Given the description of an element on the screen output the (x, y) to click on. 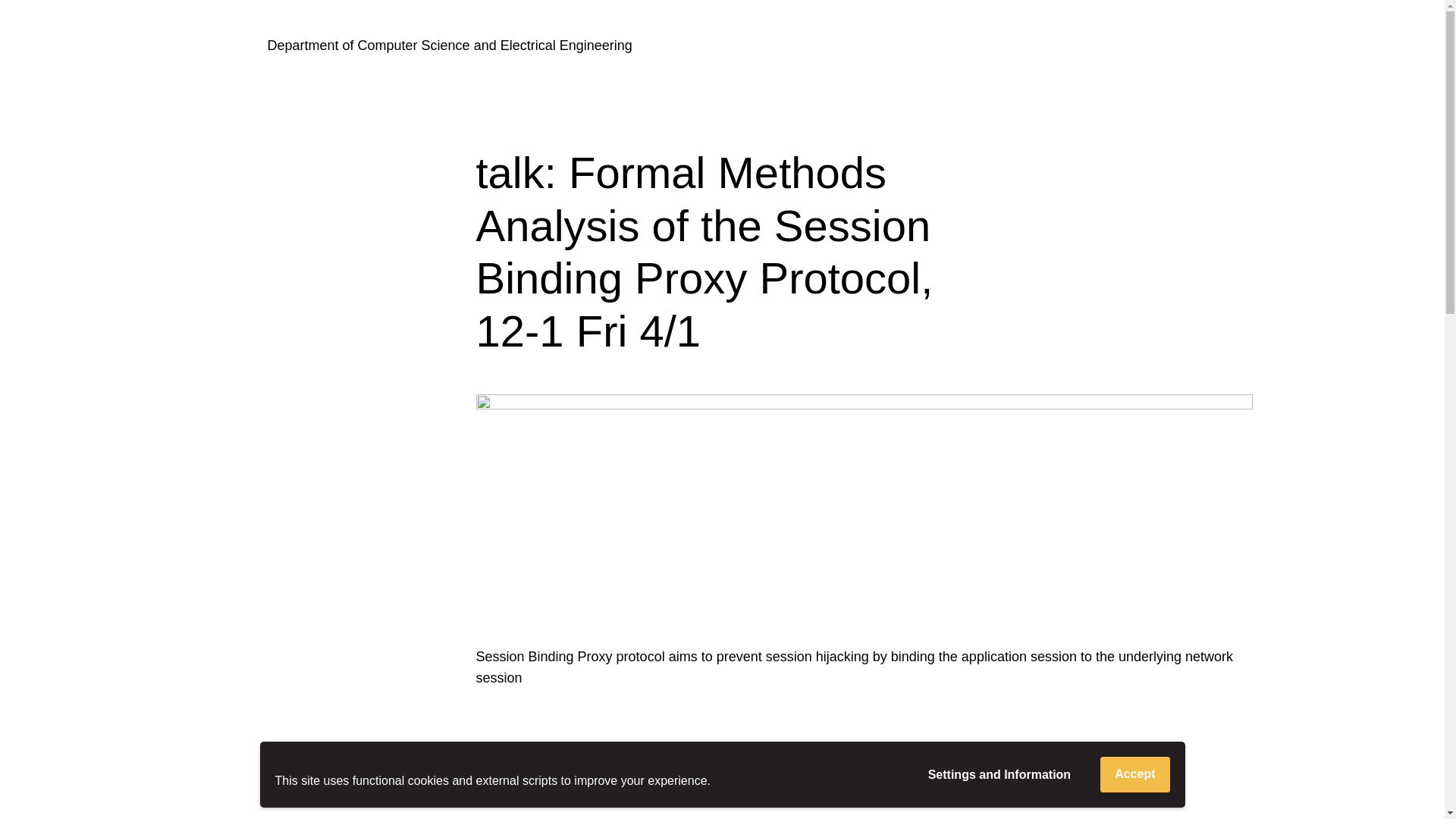
Department of Computer Science and Electrical Engineering (448, 45)
Accept (1134, 774)
Settings and Information (999, 774)
